Given the description of an element on the screen output the (x, y) to click on. 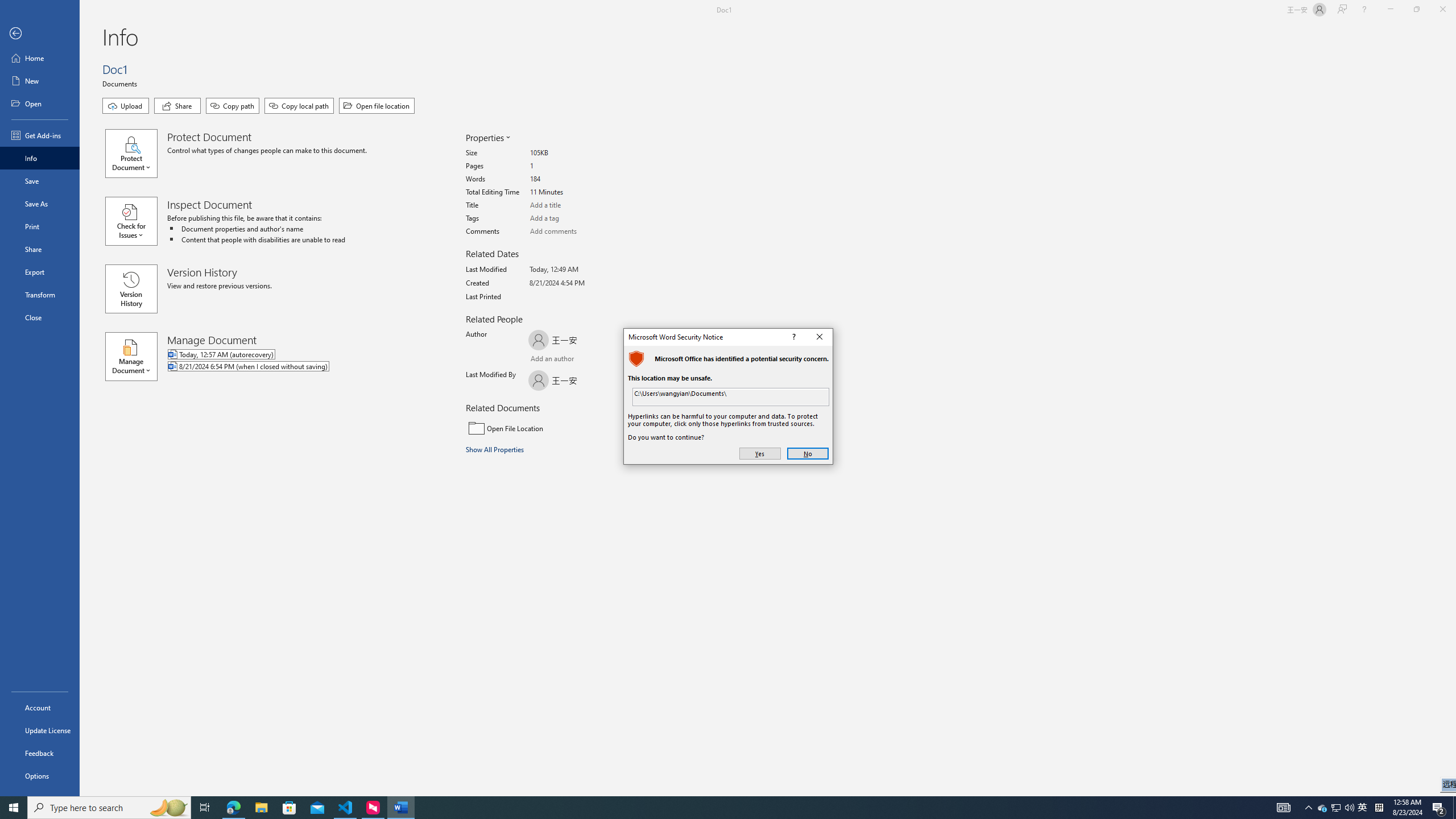
Words (572, 179)
Properties (486, 137)
No (807, 453)
Microsoft Edge - 1 running window (233, 807)
Show All Properties (495, 448)
Total Editing Time (572, 192)
Word - 1 running window (400, 807)
Copy local path (298, 105)
Tray Input Indicator - Chinese (Simplified, China) (1378, 807)
